Given the description of an element on the screen output the (x, y) to click on. 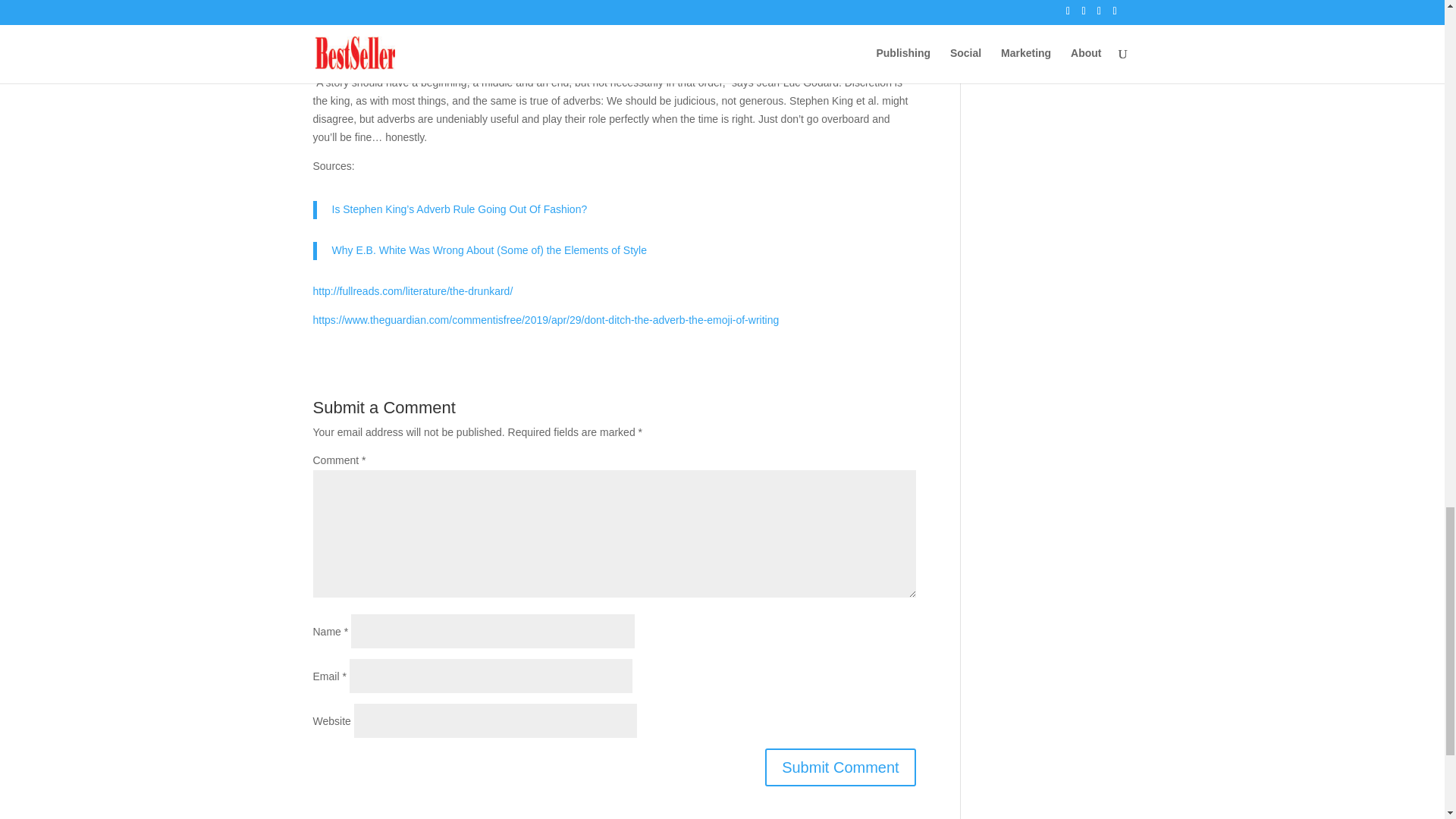
Submit Comment (840, 767)
Submit Comment (840, 767)
